Given the description of an element on the screen output the (x, y) to click on. 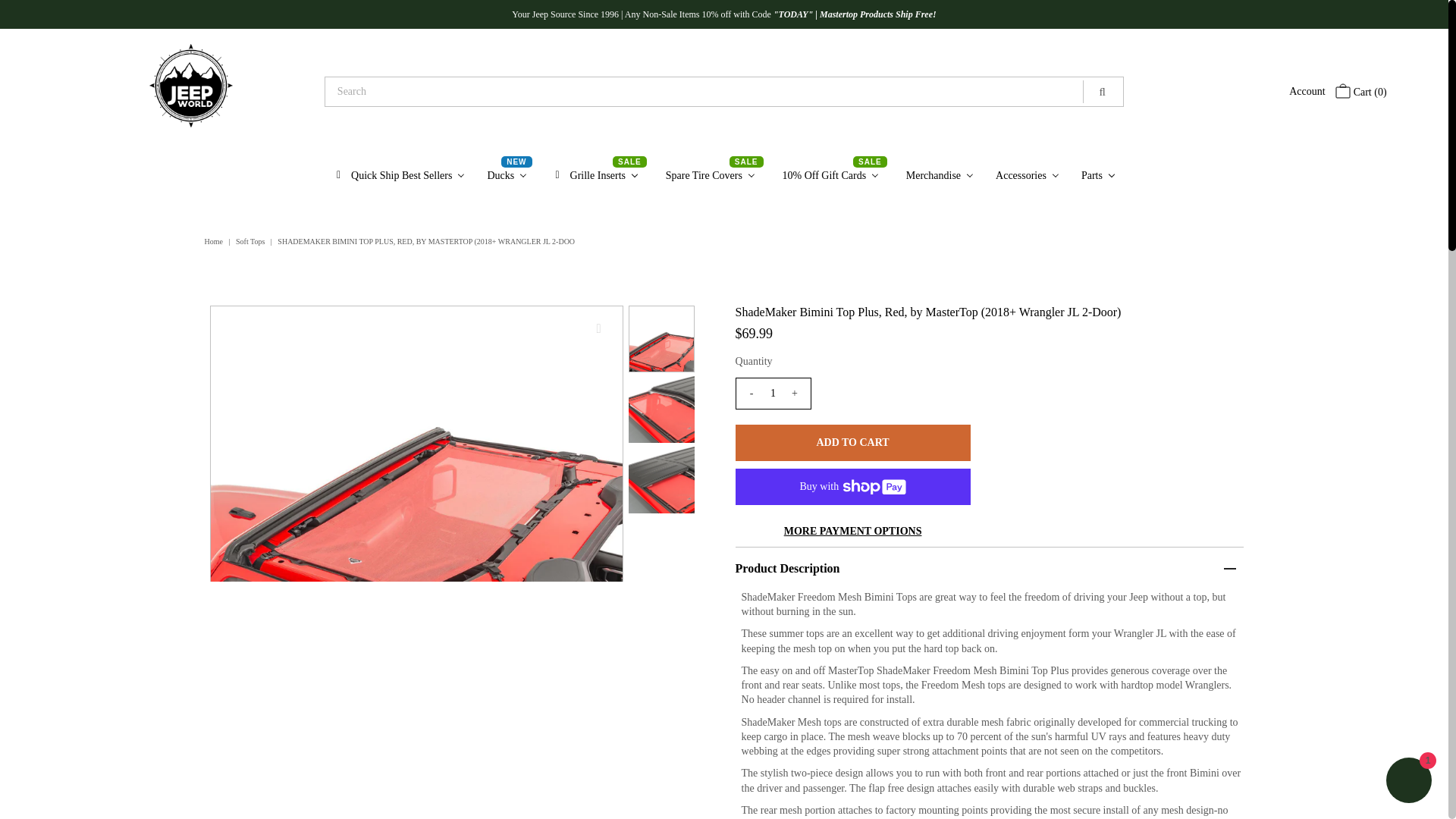
Add to Cart (853, 443)
